Given the description of an element on the screen output the (x, y) to click on. 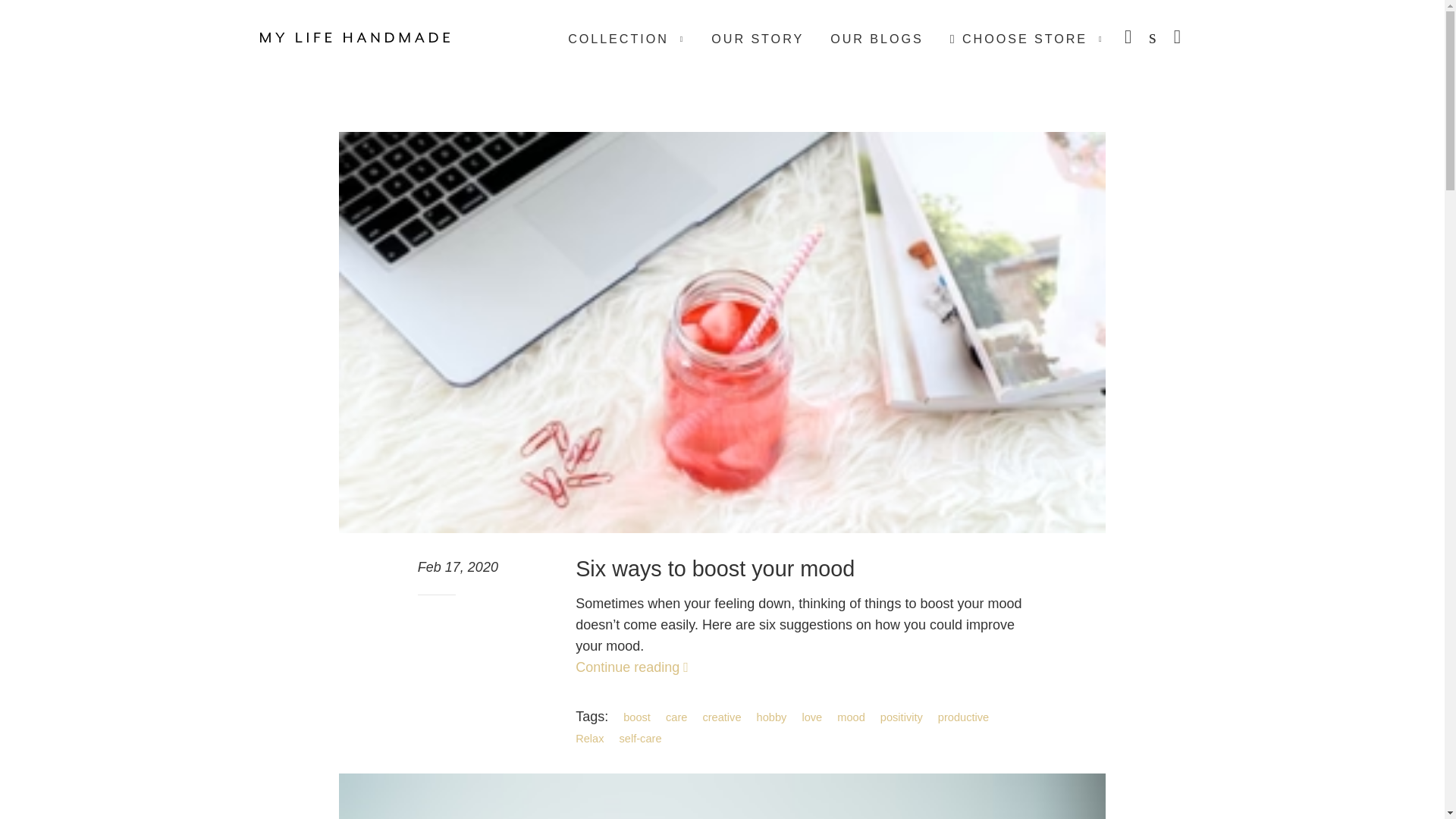
OUR STORY (757, 38)
love (817, 717)
Six ways to boost your mood (714, 568)
boost (642, 717)
creative (726, 717)
COLLECTION (625, 38)
care (681, 717)
hobby (777, 717)
OUR BLOGS (876, 38)
Continue reading (631, 667)
